Given the description of an element on the screen output the (x, y) to click on. 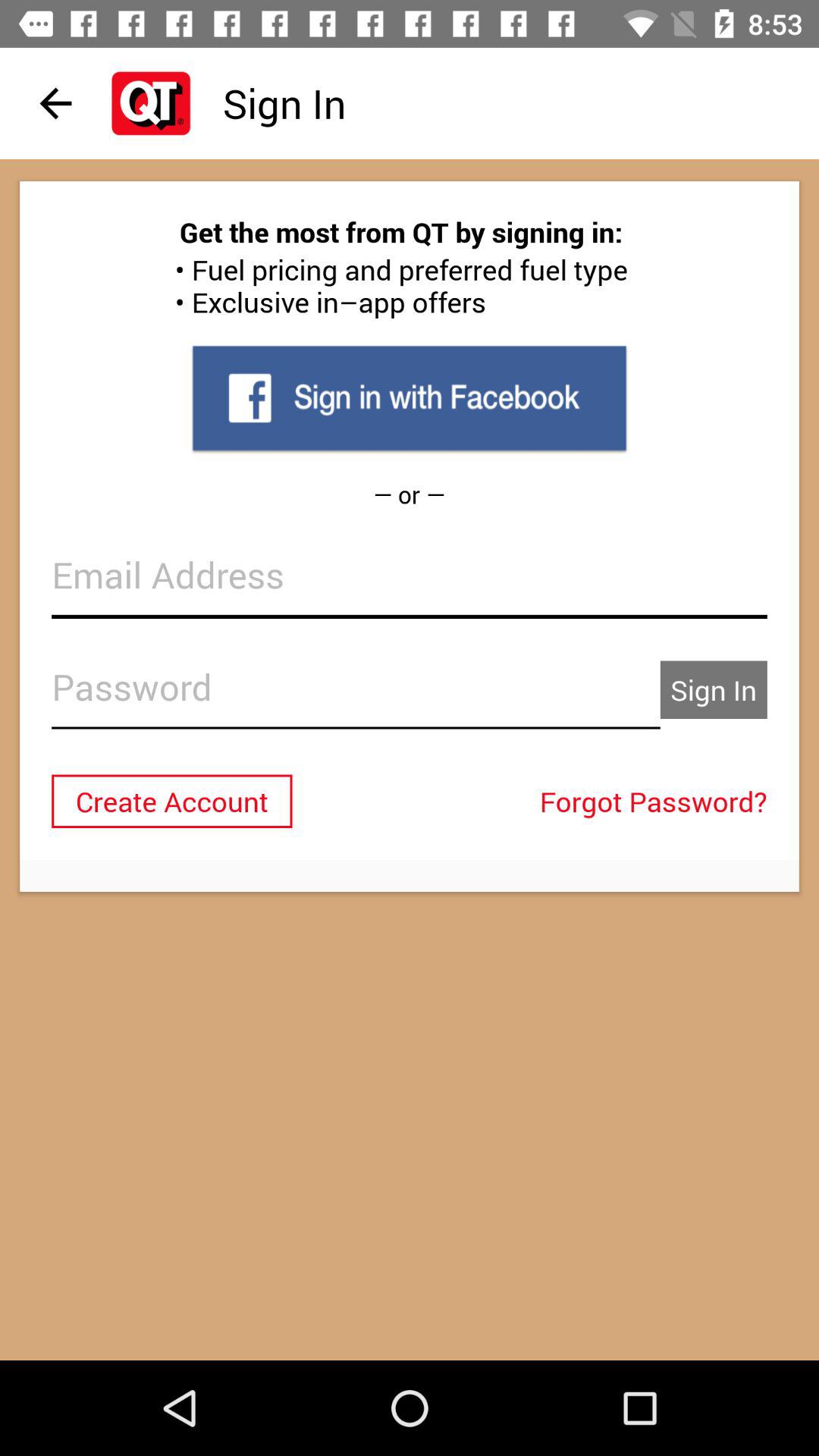
press the create account item (171, 801)
